Given the description of an element on the screen output the (x, y) to click on. 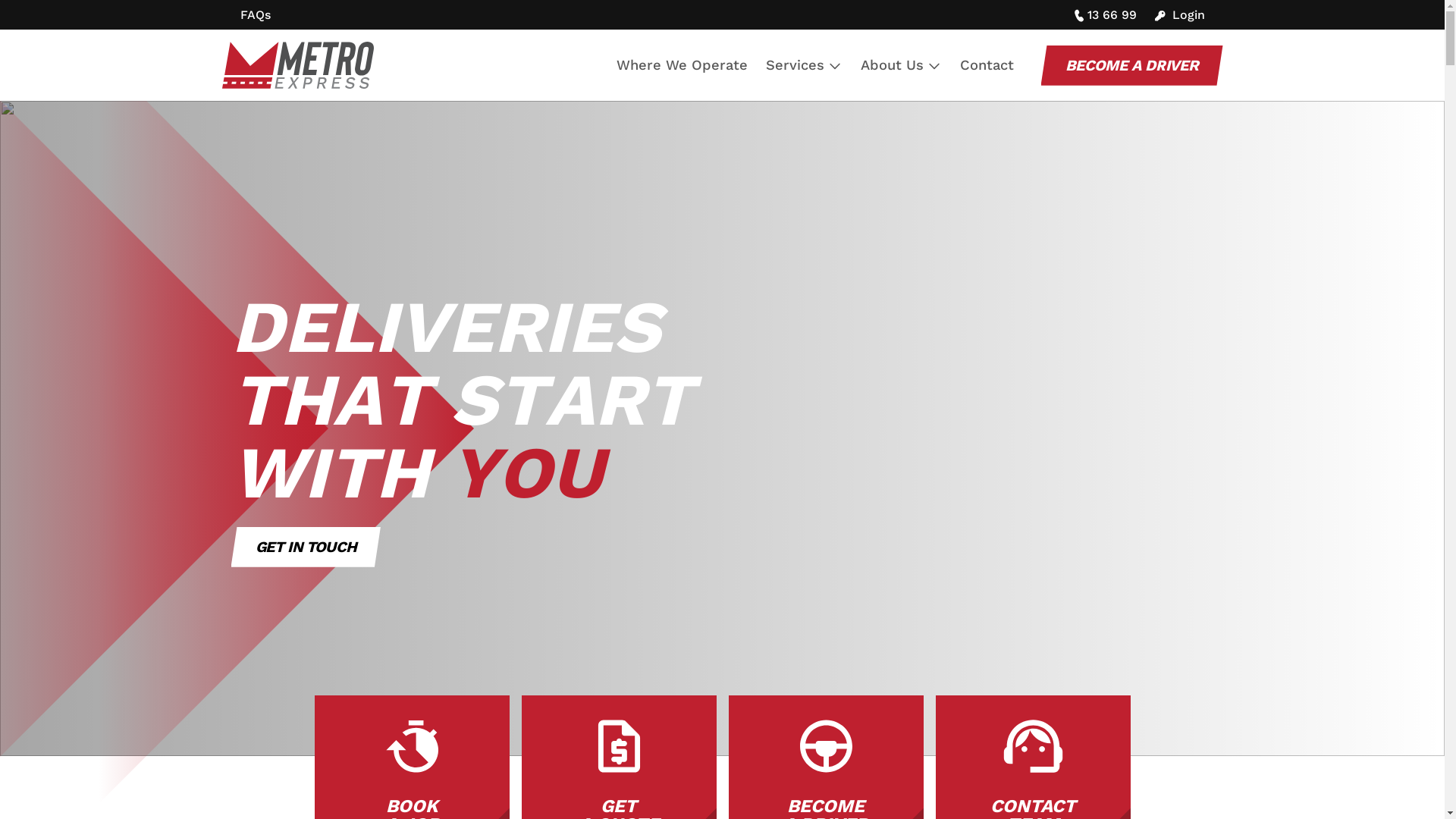
Contact Element type: text (986, 65)
GET IN TOUCH Element type: text (304, 547)
FAQs Element type: text (254, 14)
Where We Operate Element type: text (680, 65)
BECOME A DRIVER Element type: text (1131, 65)
Login Element type: text (1179, 14)
13 66 99 Element type: text (1105, 14)
Services Element type: text (803, 65)
About Us Element type: text (900, 65)
